Given the description of an element on the screen output the (x, y) to click on. 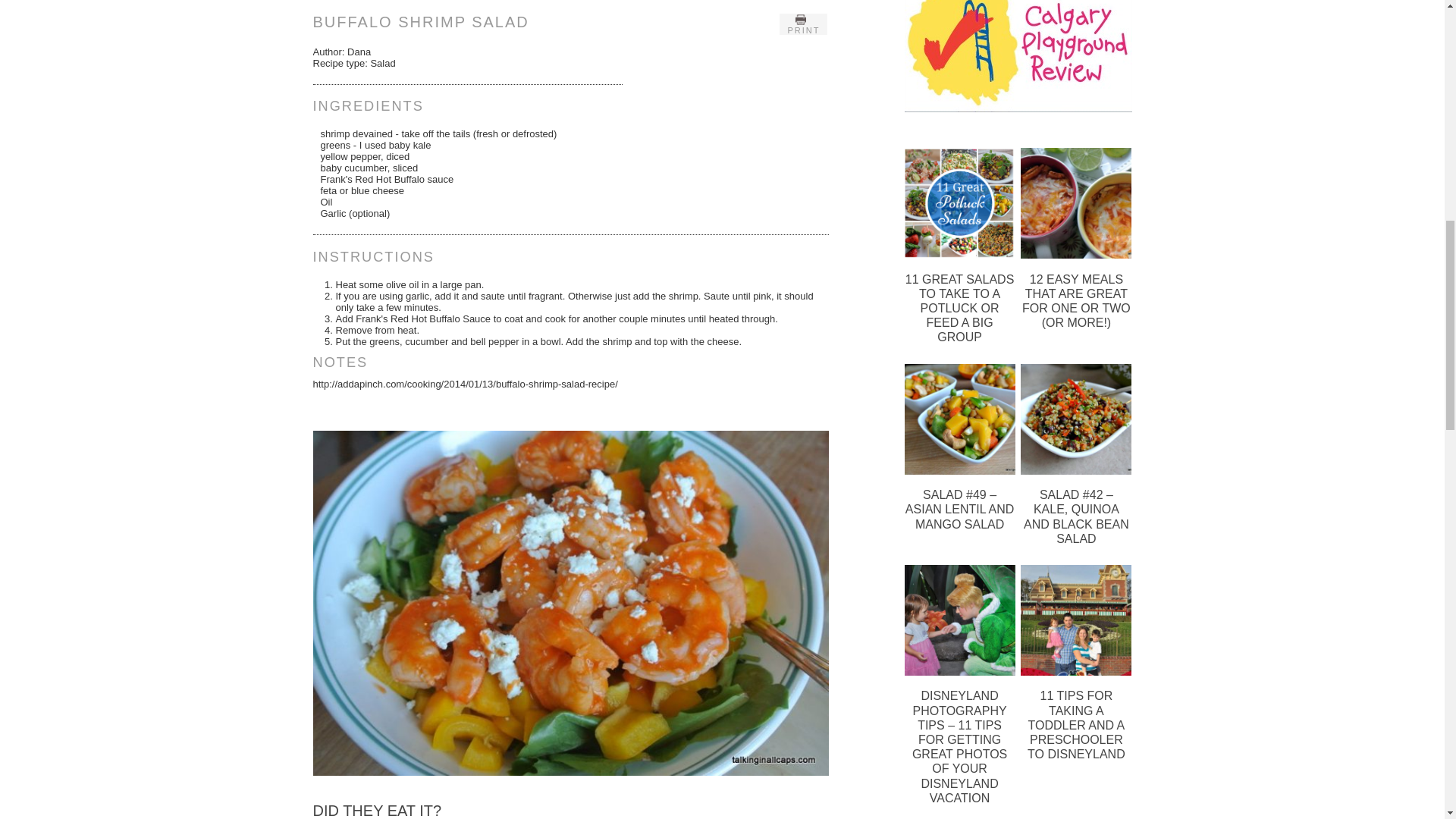
PRINT (802, 24)
11 Tips for Taking a Toddler and a Preschooler to Disneyland (1075, 671)
11 Great Salads to Take to a Potluck or Feed a Big Group (959, 254)
